Given the description of an element on the screen output the (x, y) to click on. 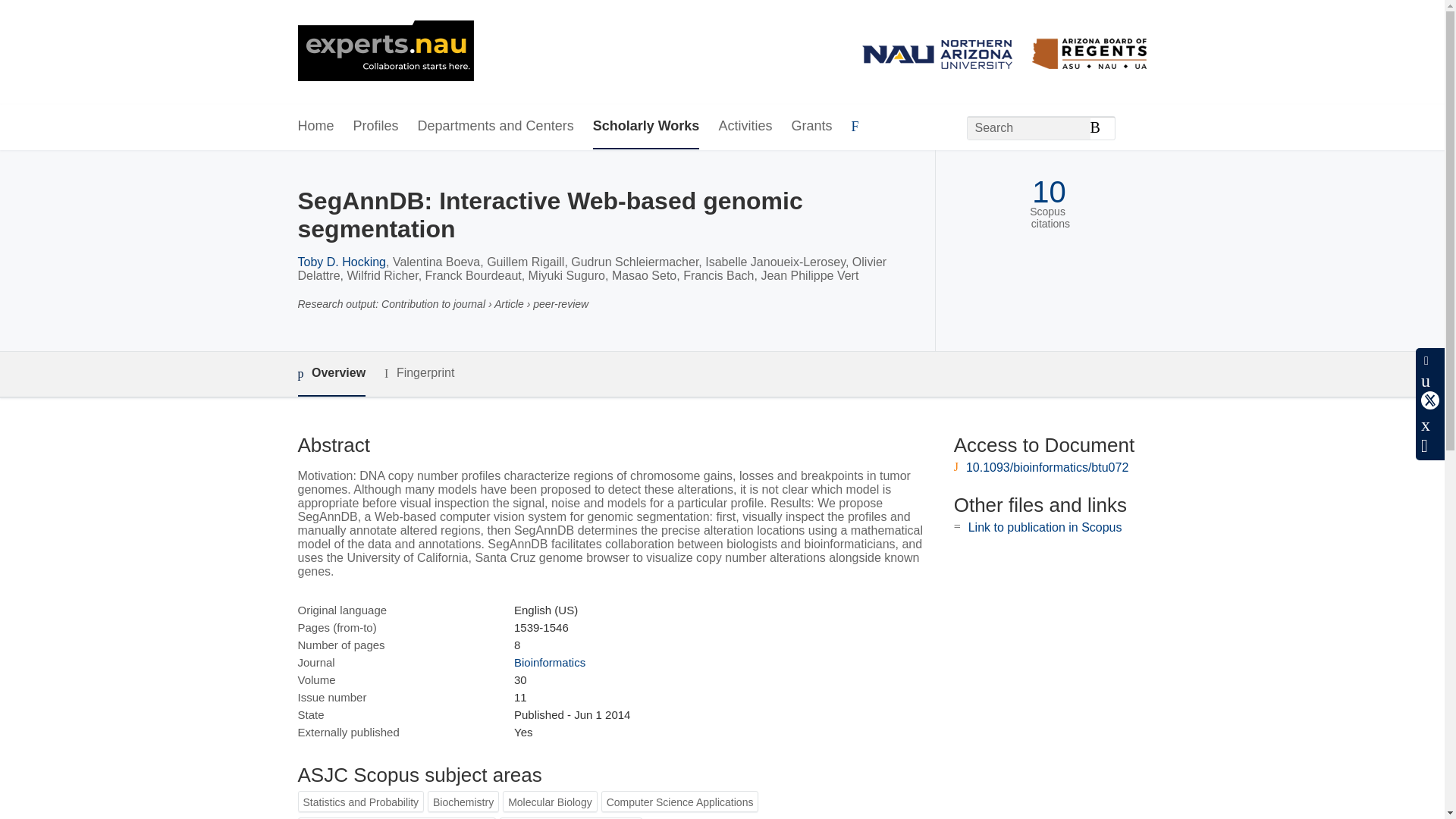
Link to publication in Scopus (1045, 526)
Profiles (375, 126)
Toby D. Hocking (341, 261)
Northern Arizona University Home (385, 52)
10 (1048, 192)
Fingerprint (419, 373)
Departments and Centers (495, 126)
Scholarly Works (646, 126)
Grants (810, 126)
Activities (744, 126)
Bioinformatics (549, 662)
Overview (331, 374)
